Given the description of an element on the screen output the (x, y) to click on. 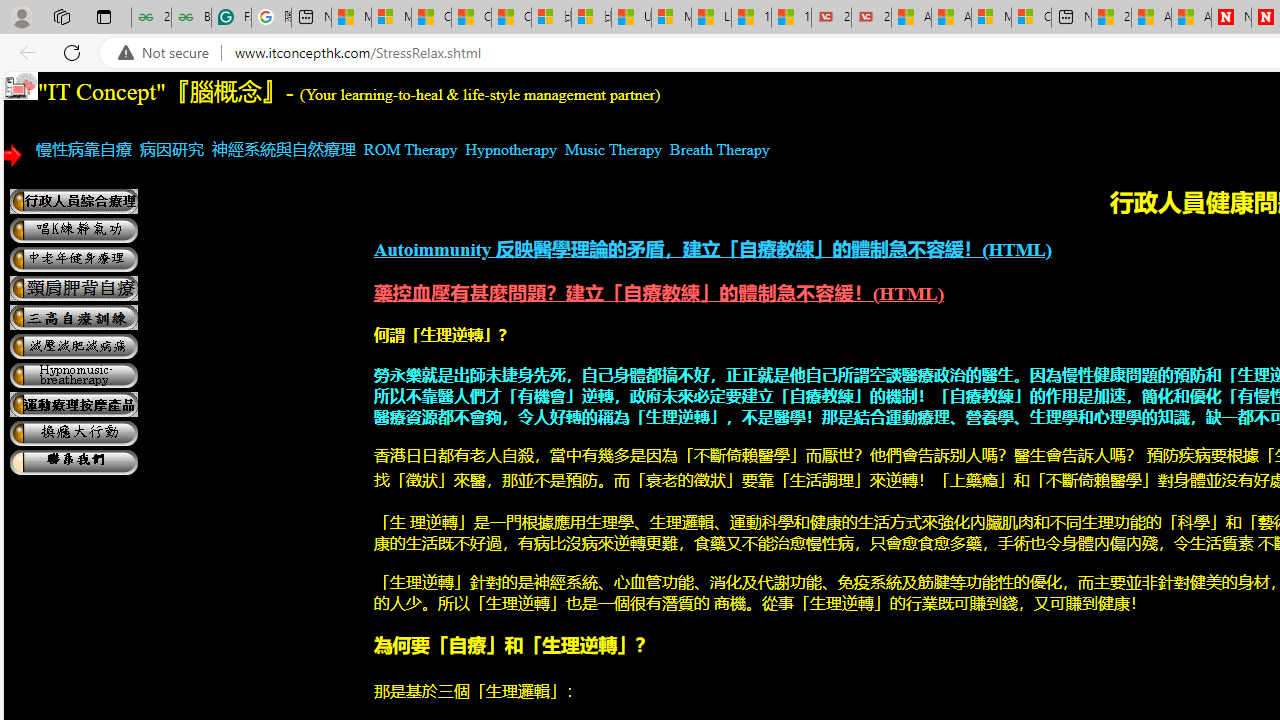
Lifestyle - MSN (711, 17)
Free AI Writing Assistance for Students | Grammarly (231, 17)
Breath Therapy (719, 149)
Cloud Computing Services | Microsoft Azure (1031, 17)
15 Ways Modern Life Contradicts the Teachings of Jesus (791, 17)
USA TODAY - MSN (631, 17)
